Given the description of an element on the screen output the (x, y) to click on. 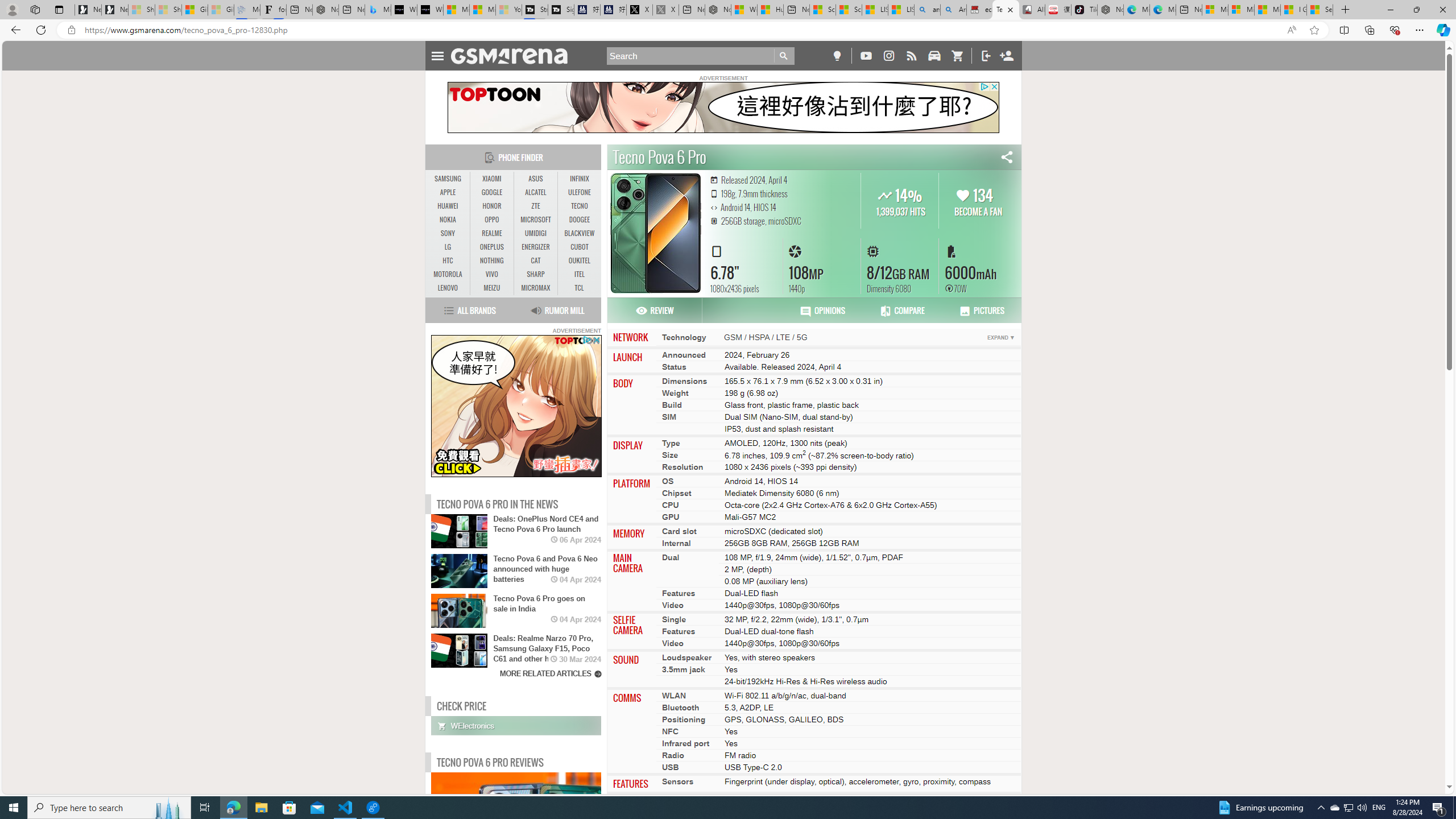
CAT (535, 260)
NFC (670, 731)
HUAWEI (448, 206)
Internal (676, 542)
MICROMAX (535, 287)
VIVO (491, 273)
SAMSUNG (448, 178)
SIM (668, 416)
Features (678, 631)
Announced (684, 354)
ONEPLUS (491, 246)
Sensors (678, 781)
3.5mm jack (683, 669)
